Given the description of an element on the screen output the (x, y) to click on. 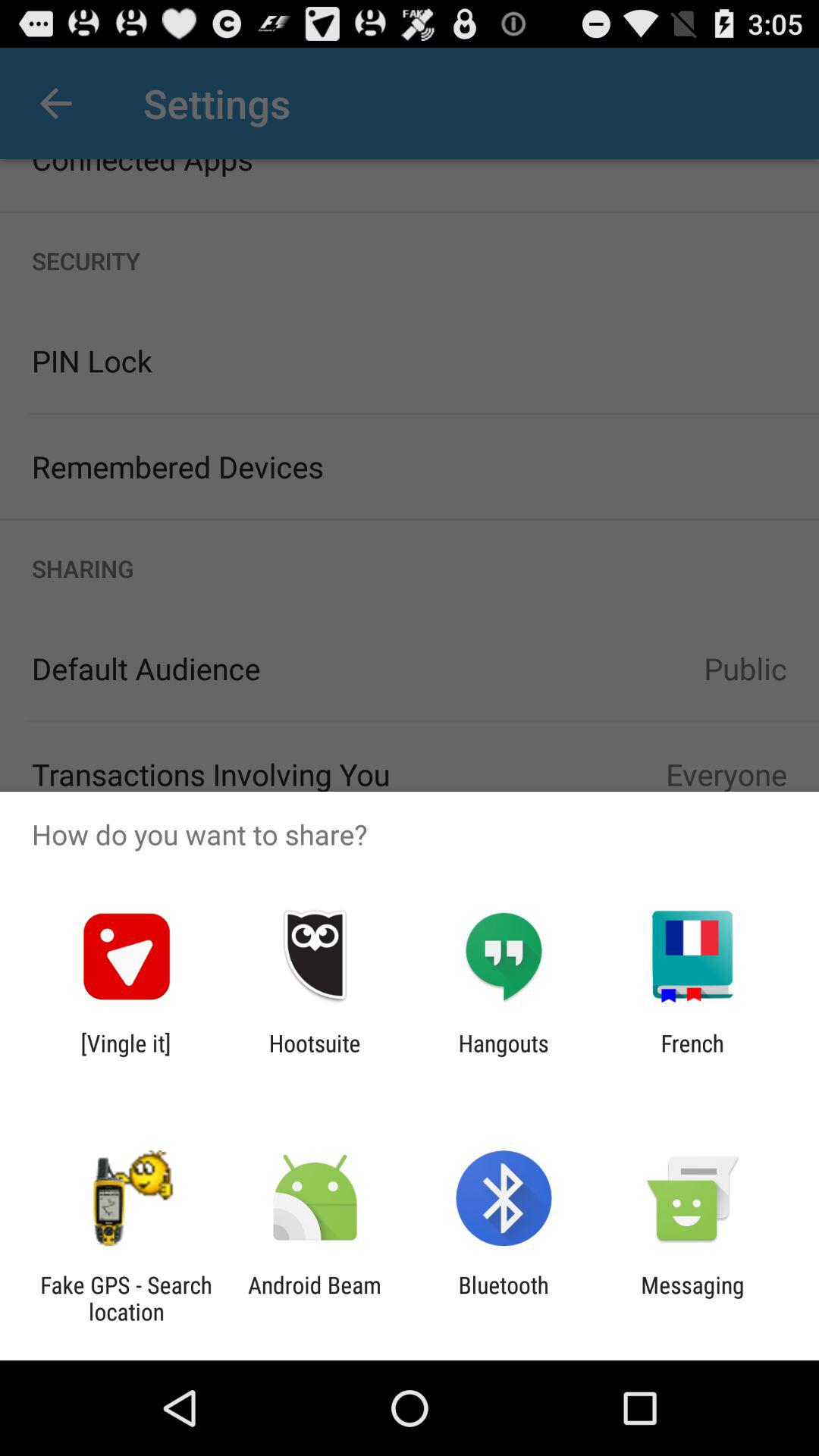
launch icon next to the bluetooth icon (314, 1298)
